Given the description of an element on the screen output the (x, y) to click on. 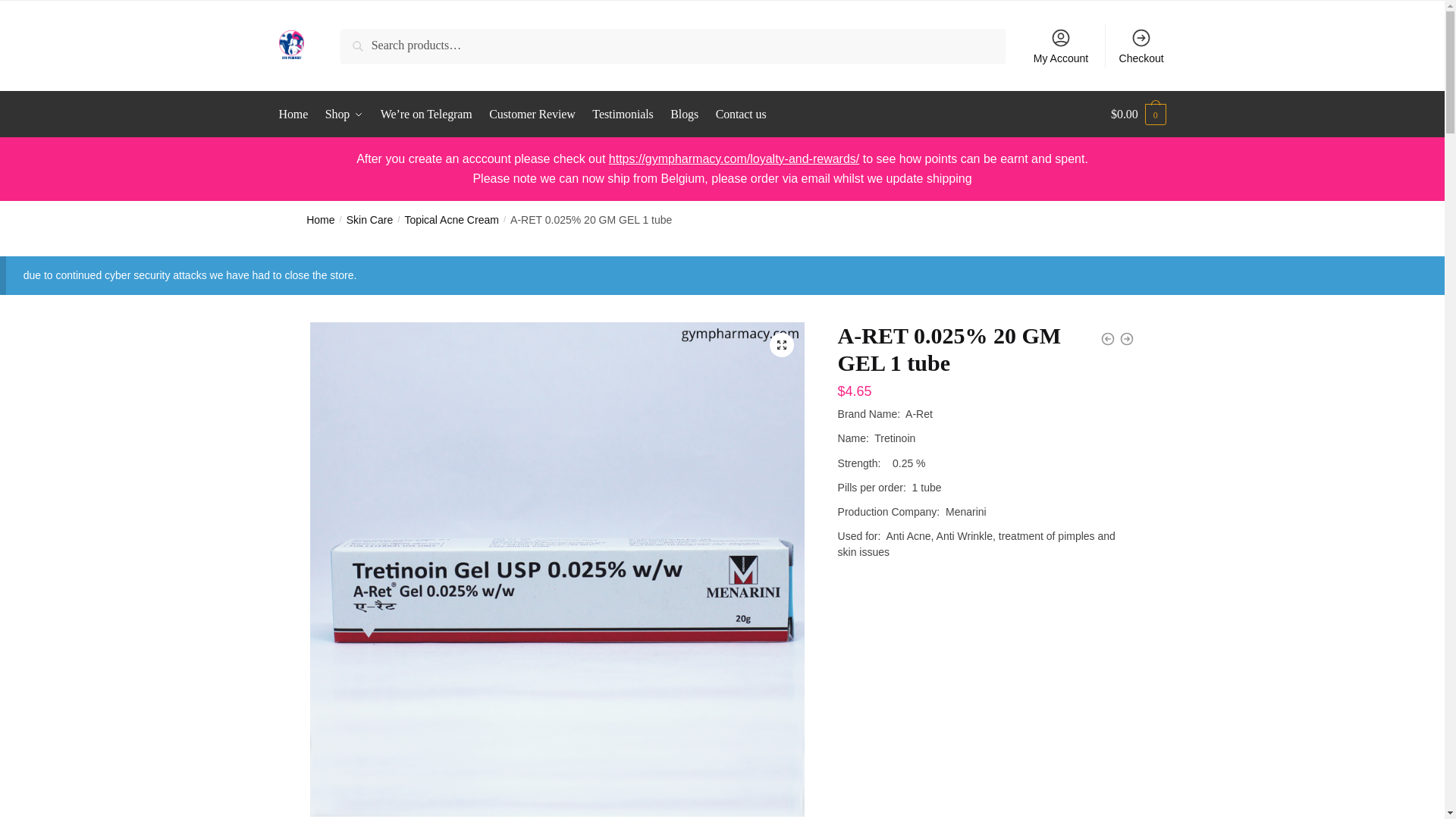
Checkout (1141, 45)
Blogs (683, 114)
Contact us (741, 114)
Shop (343, 114)
Customer Review (530, 114)
Home (319, 219)
Testimonials (623, 114)
View your shopping cart (1138, 114)
Search (361, 38)
Home (297, 114)
My Account (1061, 45)
